Given the description of an element on the screen output the (x, y) to click on. 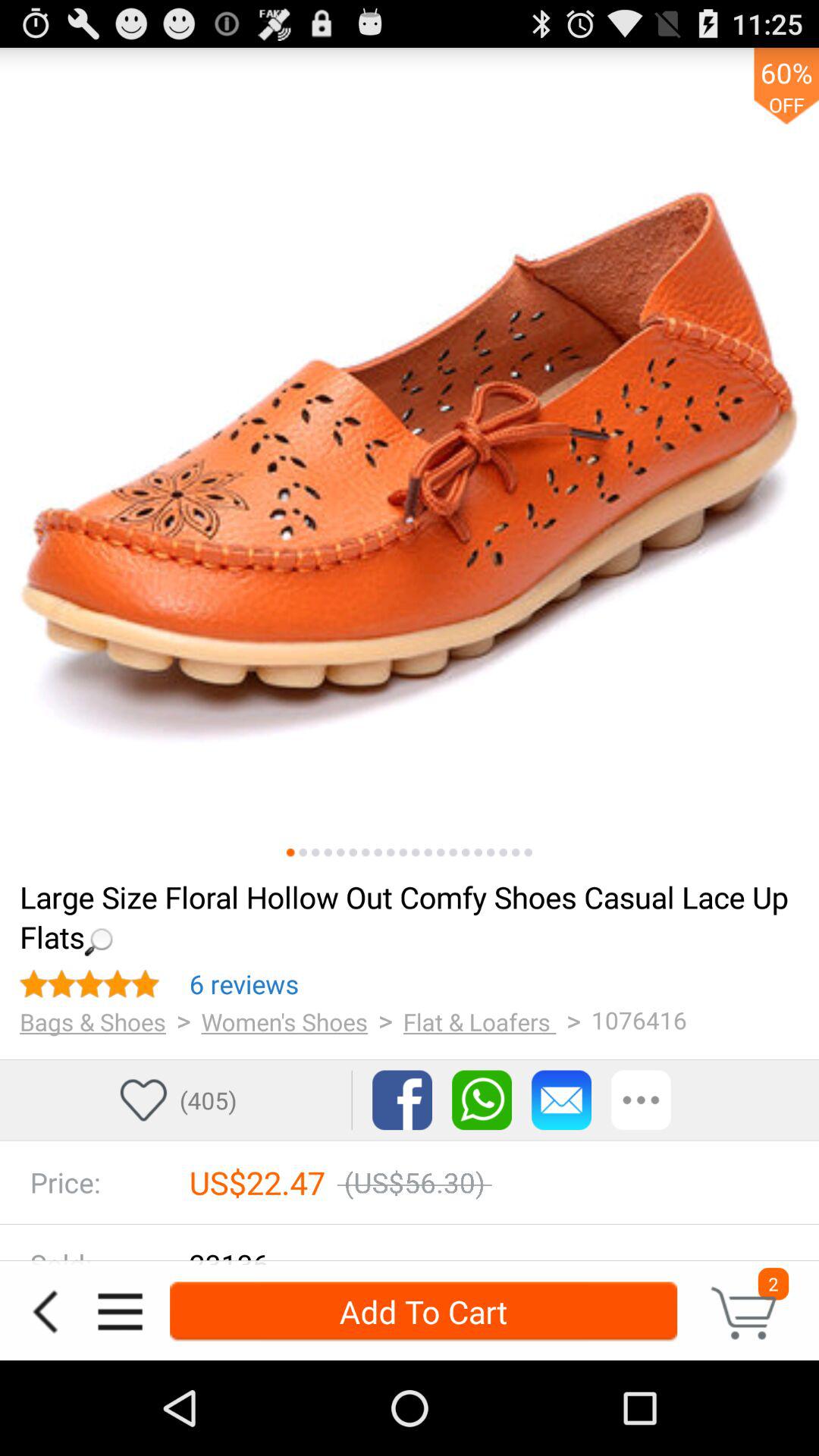
email seller (561, 1100)
